Given the description of an element on the screen output the (x, y) to click on. 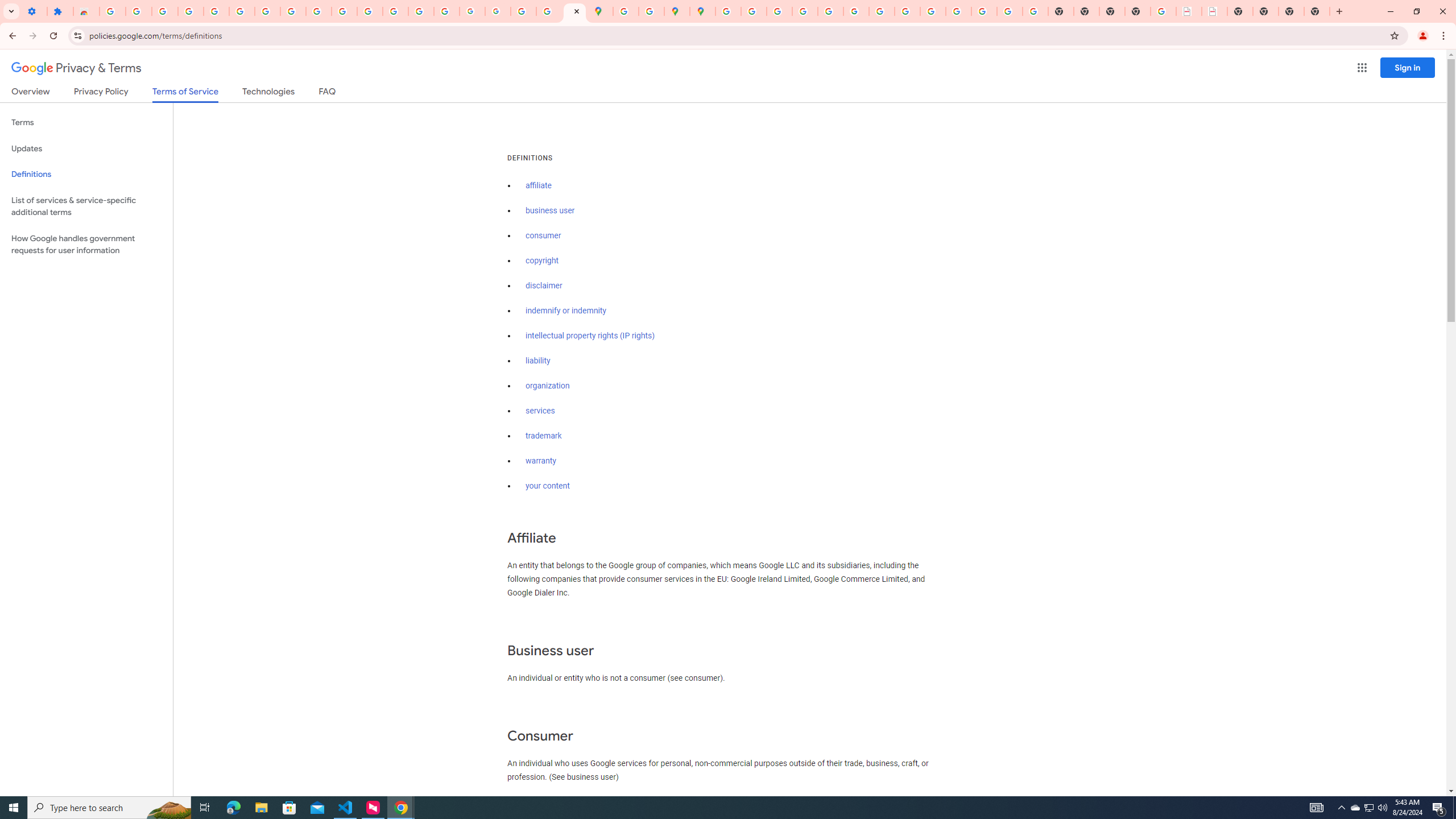
LAAD Defence & Security 2025 | BAE Systems (1188, 11)
trademark (543, 435)
YouTube (881, 11)
Safety in Our Products - Google Safety Center (651, 11)
Google Account (293, 11)
disclaimer (543, 285)
Reviews: Helix Fruit Jump Arcade Game (86, 11)
FAQ (327, 93)
Technologies (268, 93)
indemnify or indemnity (565, 311)
